Given the description of an element on the screen output the (x, y) to click on. 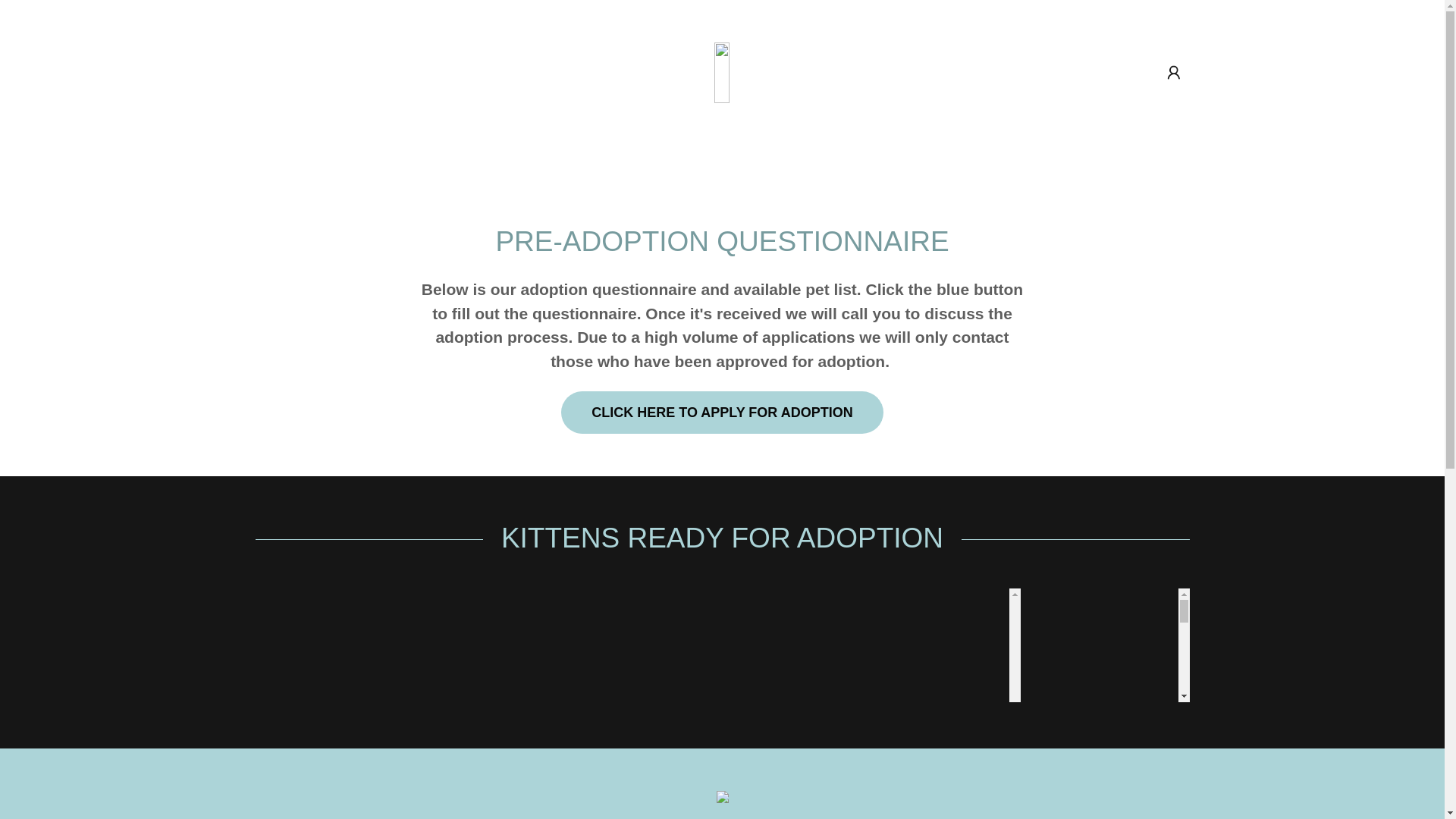
CLICK HERE TO APPLY FOR ADOPTION (721, 412)
